Given the description of an element on the screen output the (x, y) to click on. 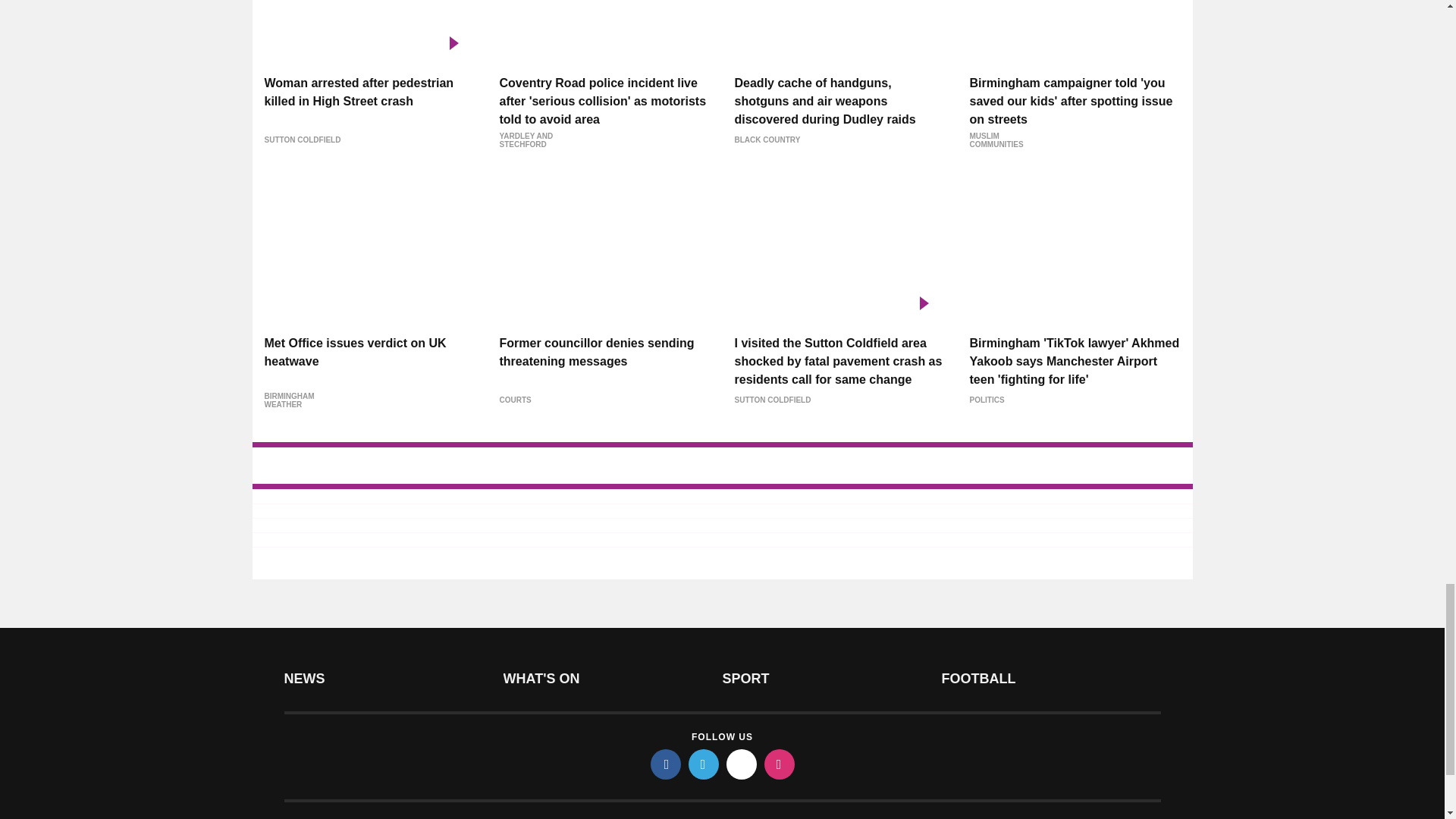
instagram (779, 764)
twitter (703, 764)
facebook (665, 764)
tiktok (741, 764)
